Given the description of an element on the screen output the (x, y) to click on. 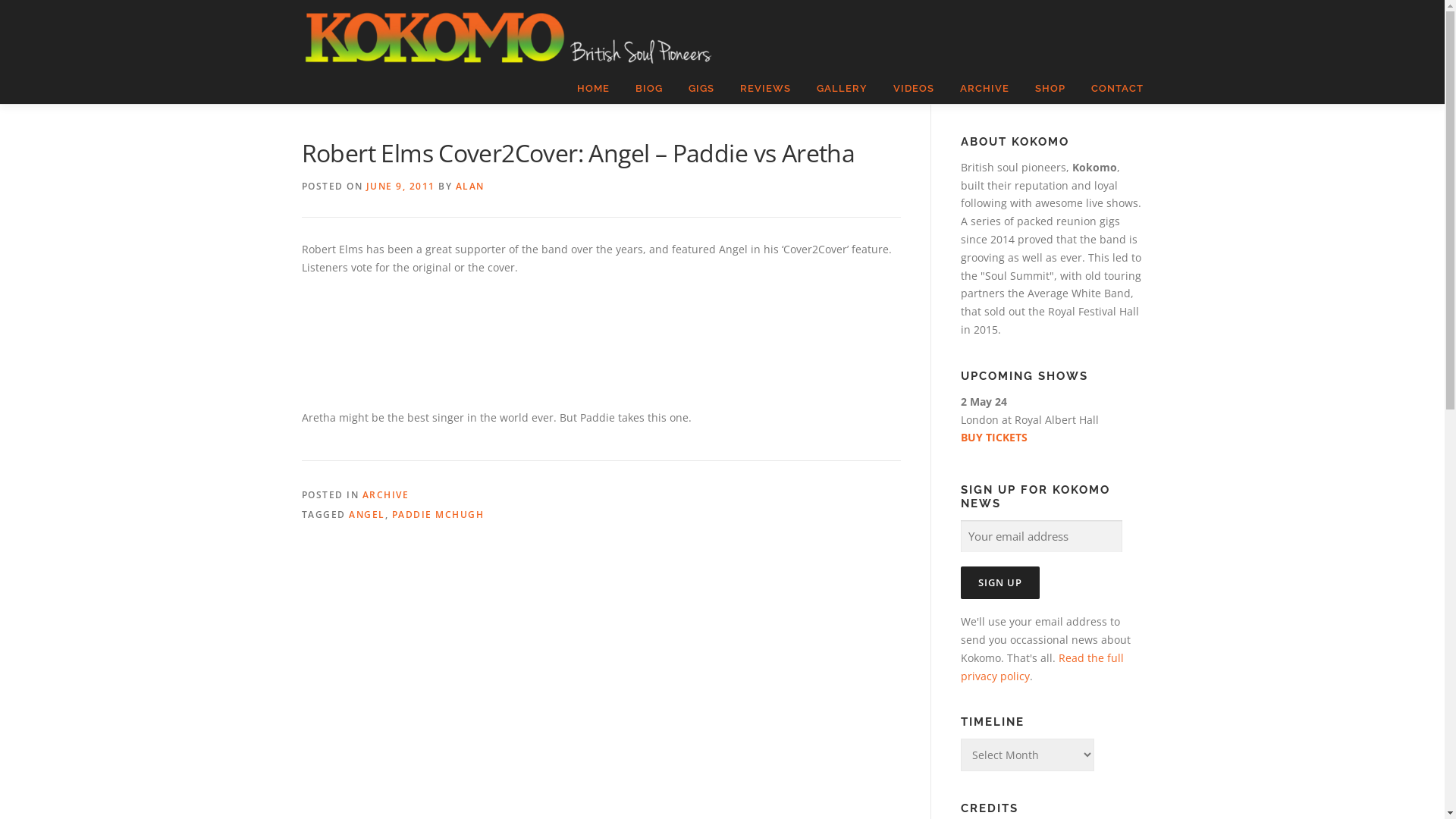
PADDIE MCHUGH Element type: text (437, 514)
HOME Element type: text (593, 88)
ALAN Element type: text (469, 185)
REVIEWS Element type: text (764, 88)
GALLERY Element type: text (841, 88)
ANGEL Element type: text (366, 514)
BIOG Element type: text (647, 88)
CONTACT Element type: text (1110, 88)
SHOP Element type: text (1050, 88)
JUNE 9, 2011 Element type: text (399, 185)
VIDEOS Element type: text (912, 88)
audioBoom player Element type: hover (566, 333)
Read the full privacy policy Element type: text (1041, 666)
GIGS Element type: text (700, 88)
Sign up Element type: text (999, 582)
BUY TICKETS Element type: text (1051, 437)
ARCHIVE Element type: text (385, 494)
ARCHIVE Element type: text (983, 88)
